Given the description of an element on the screen output the (x, y) to click on. 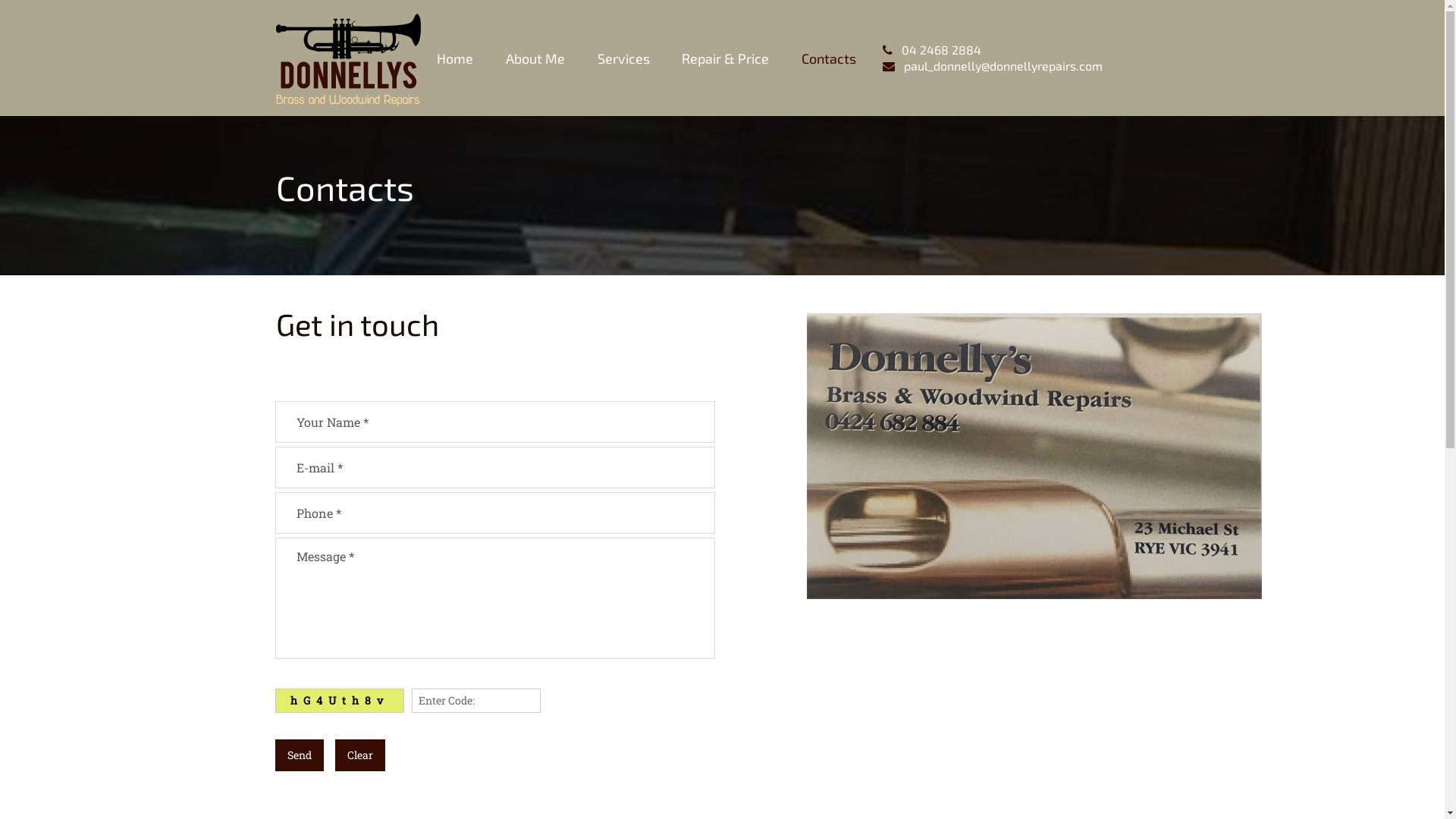
04 2468 2884 Element type: text (940, 49)
Repair & Price Element type: text (724, 57)
Send Element type: text (298, 754)
Home Element type: text (454, 57)
Services Element type: text (623, 57)
Contacts Element type: text (828, 57)
About Me Element type: text (534, 57)
paul_donnelly@donnellyrepairs.com Element type: text (1002, 64)
Clear Element type: text (360, 754)
